Given the description of an element on the screen output the (x, y) to click on. 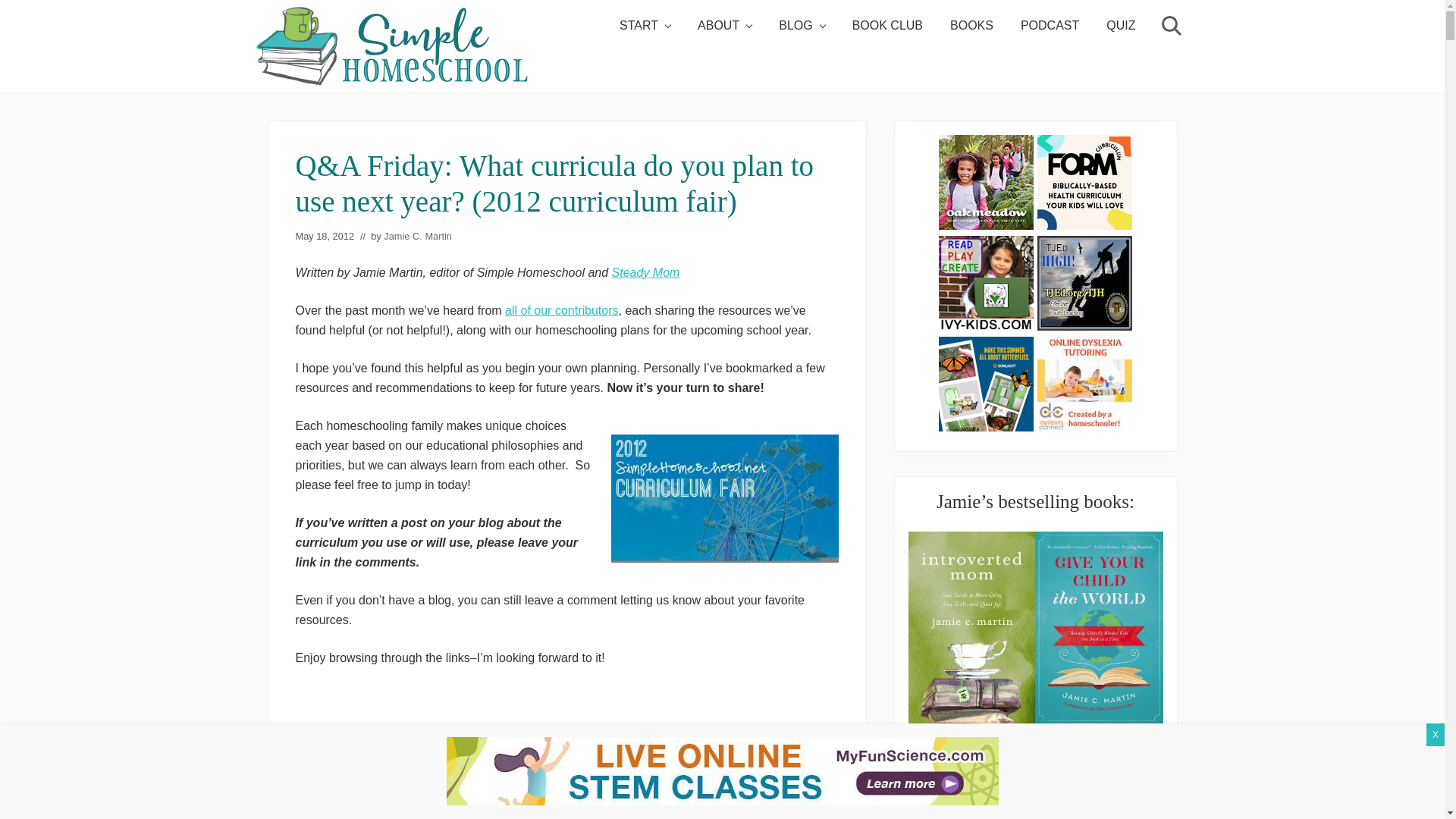
BOOKS (971, 25)
START (644, 25)
ABOUT (723, 25)
Search (1169, 25)
PODCAST (1049, 25)
QUIZ (1120, 25)
BOOK CLUB (887, 25)
curriculum fair 2012 (724, 498)
BLOG (801, 25)
